Given the description of an element on the screen output the (x, y) to click on. 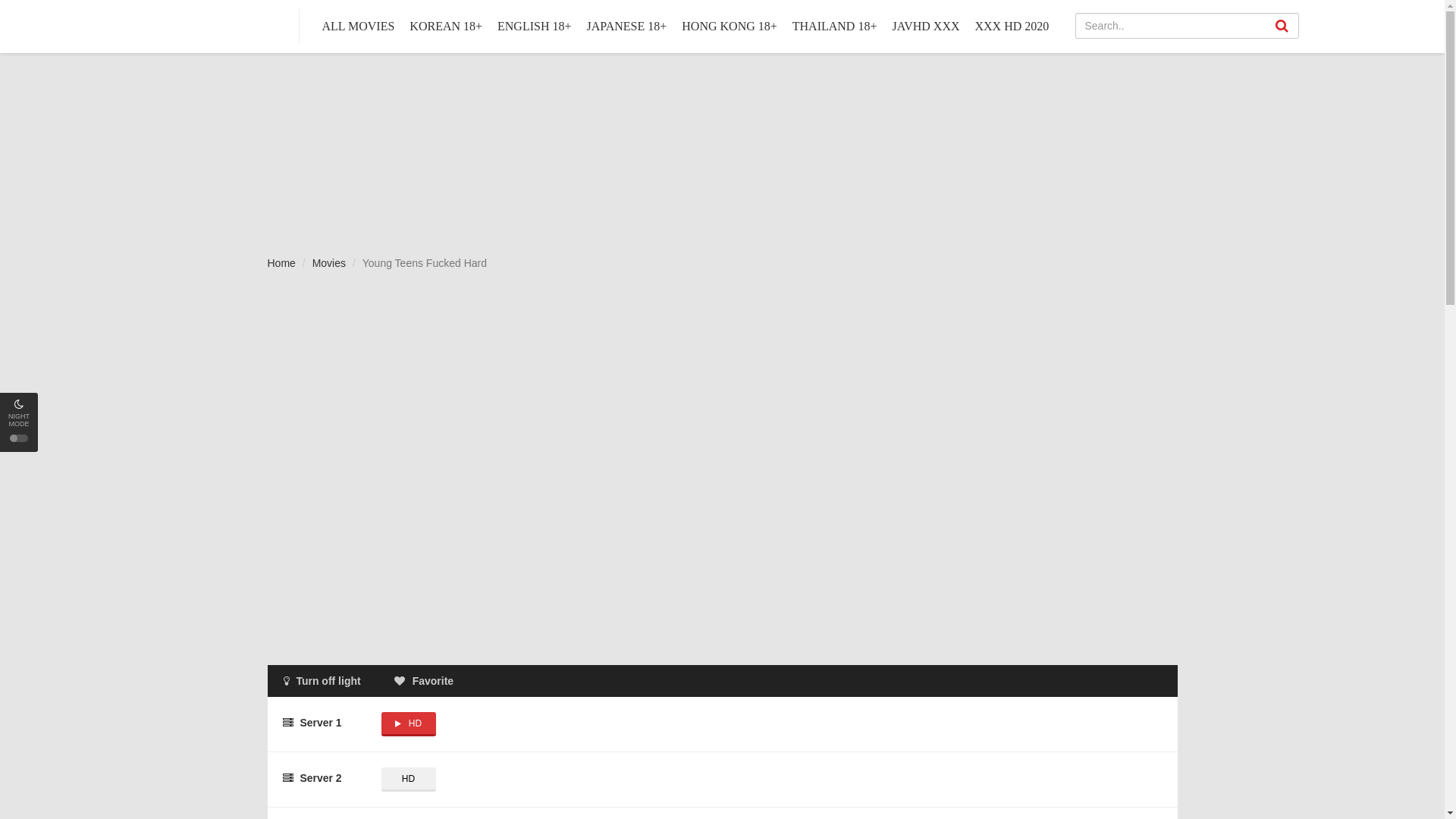
KOREAN 18+ Element type: text (445, 26)
ALL MOVIES Element type: text (358, 26)
JAVHD XXX Element type: text (925, 26)
Home Element type: text (280, 263)
ENGLISH 18+ Element type: text (533, 26)
Favorite Element type: text (423, 680)
Turn off light Element type: text (321, 680)
HONG KONG 18+ Element type: text (728, 26)
THAILAND 18+ Element type: text (834, 26)
XXX HD 2020 Element type: text (1011, 26)
HD Element type: text (407, 779)
HD Element type: text (407, 724)
Movies Element type: text (328, 263)
JAPANESE 18+ Element type: text (626, 26)
